Given the description of an element on the screen output the (x, y) to click on. 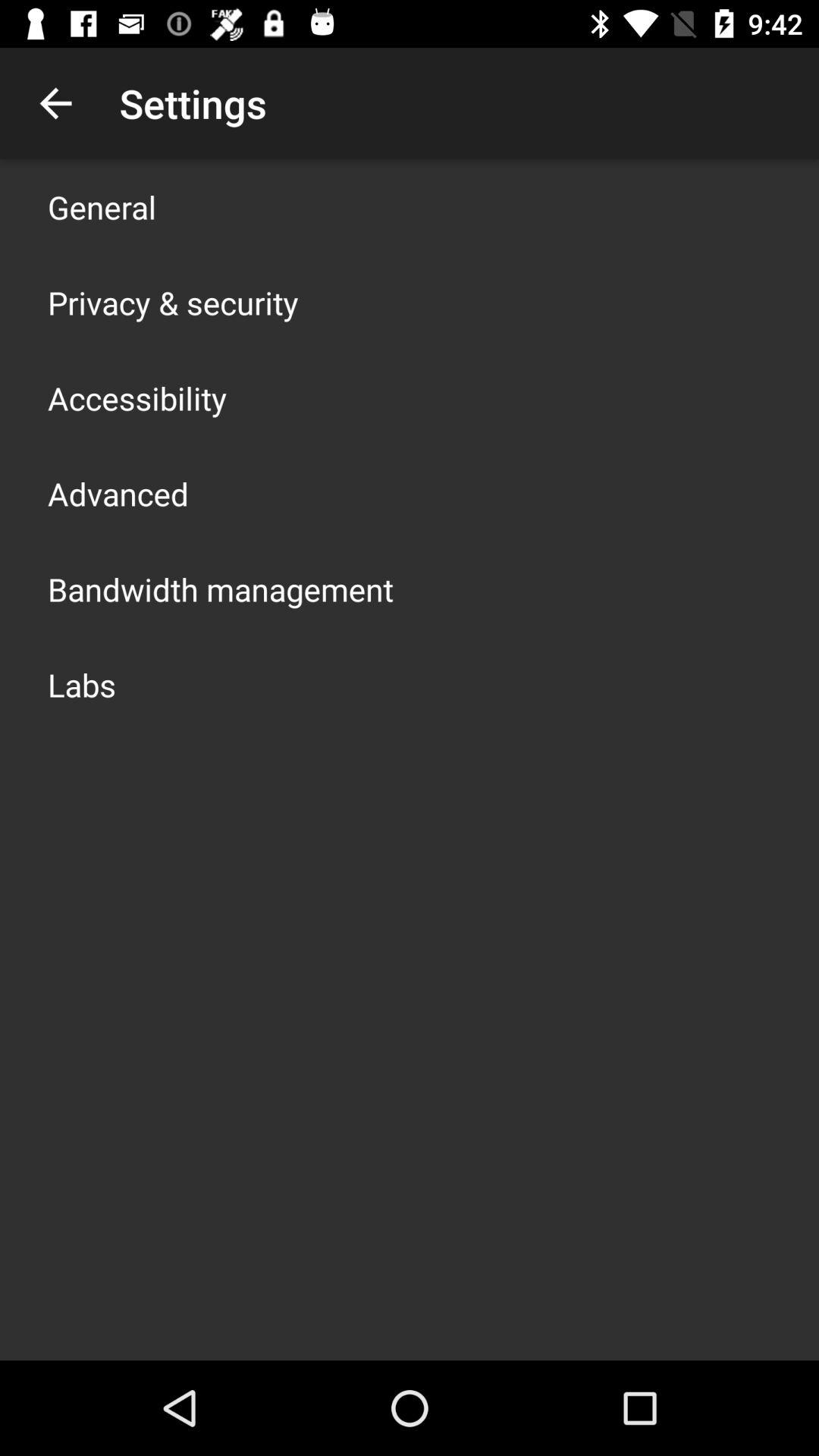
turn on item below the advanced item (220, 588)
